Given the description of an element on the screen output the (x, y) to click on. 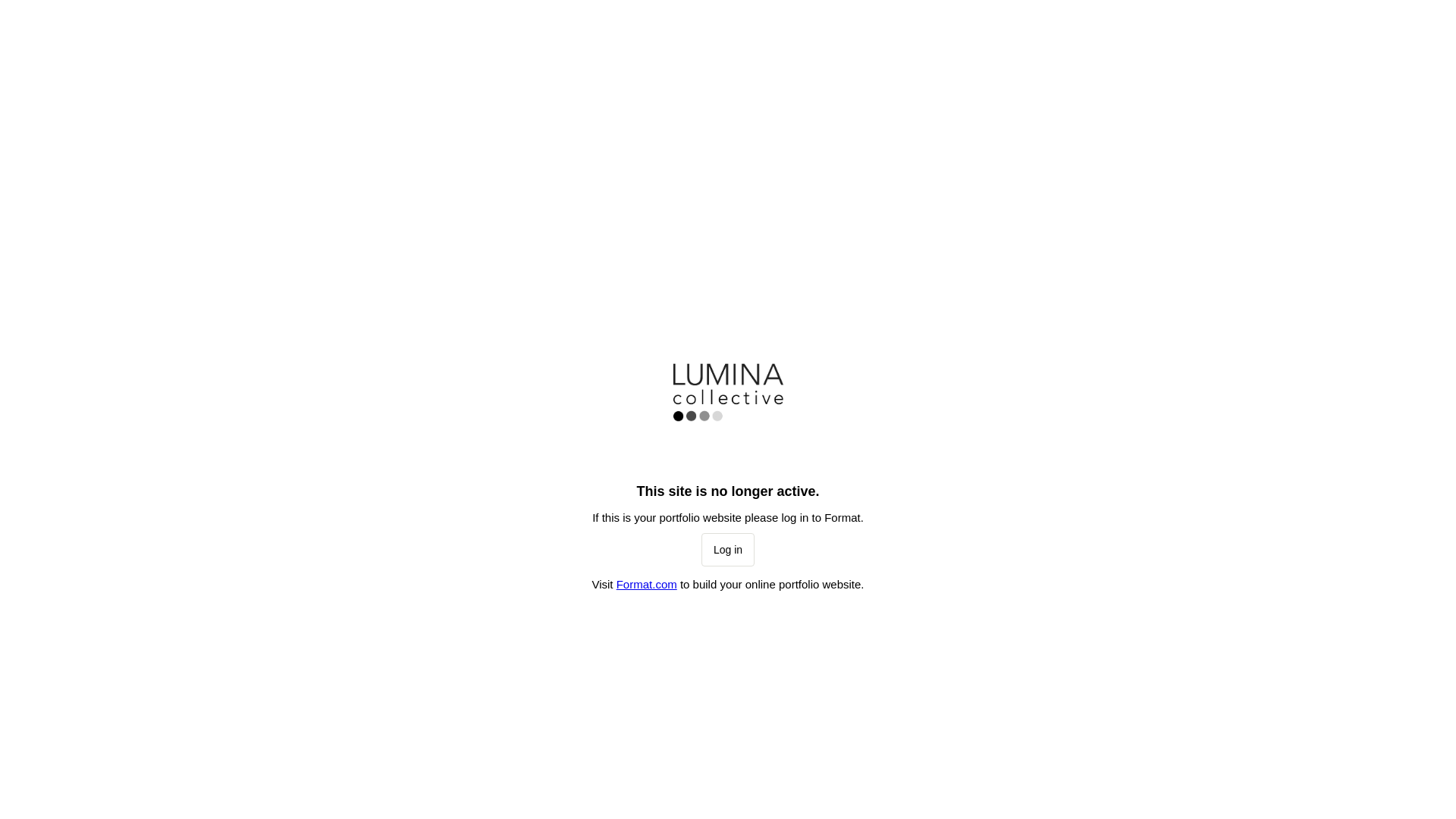
Format.com Element type: text (646, 583)
Log in Element type: text (727, 549)
